Given the description of an element on the screen output the (x, y) to click on. 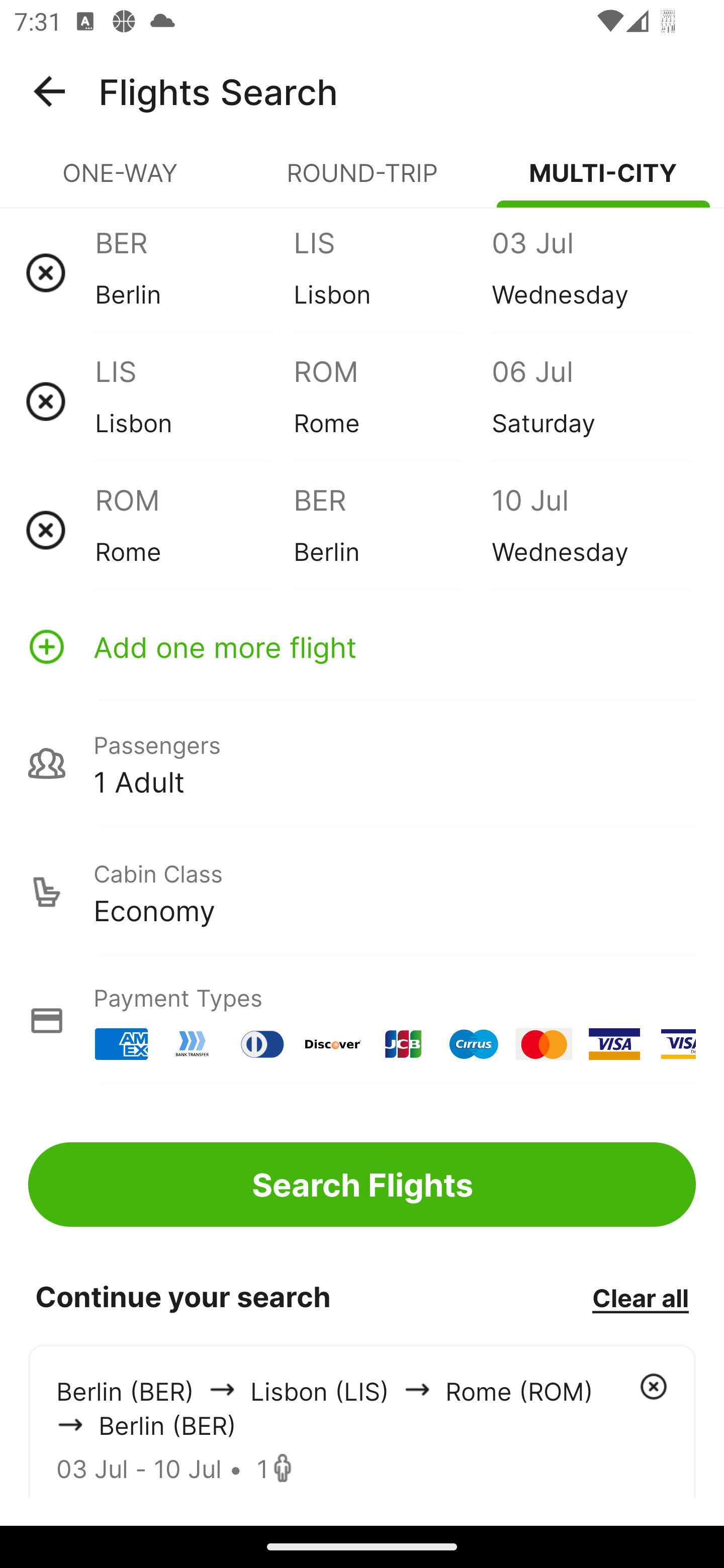
ONE-WAY (120, 180)
ROUND-TRIP (361, 180)
MULTI-CITY (603, 180)
BER Berlin (193, 272)
LIS Lisbon (392, 272)
03 Jul Wednesday (590, 272)
LIS Lisbon (193, 401)
ROM Rome (392, 401)
06 Jul Saturday (590, 401)
ROM Rome (193, 529)
BER Berlin (392, 529)
10 Jul Wednesday (590, 529)
Add one more flight (362, 646)
Passengers 1 Adult (362, 762)
Cabin Class Economy (362, 891)
Payment Types (362, 1020)
Search Flights (361, 1184)
Clear all (640, 1297)
